Given the description of an element on the screen output the (x, y) to click on. 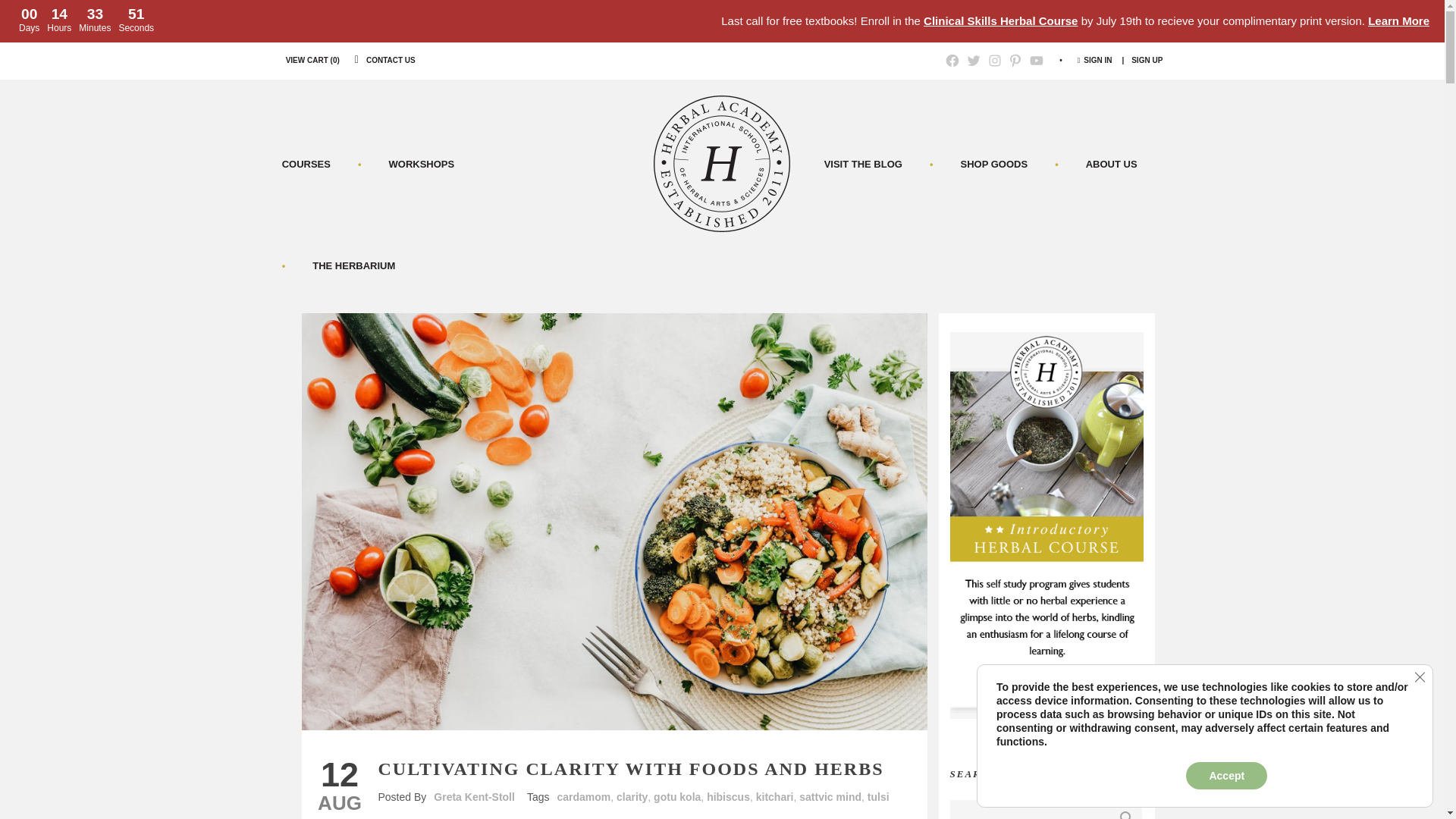
SIGN IN (1097, 60)
COURSES (320, 163)
PINTEREST (1015, 60)
SHOP GOODS (992, 163)
SIGN UP (1146, 60)
Learn More (1398, 20)
VISIT THE BLOG (877, 163)
YOUTUBE (1036, 60)
CONTACT US (390, 60)
FACEBOOK (951, 60)
TWITTER (973, 60)
WORKSHOPS (419, 163)
Clinical Skills Herbal Course (1000, 20)
INSTAGRAM (995, 60)
THE HERBARIUM (352, 265)
